Given the description of an element on the screen output the (x, y) to click on. 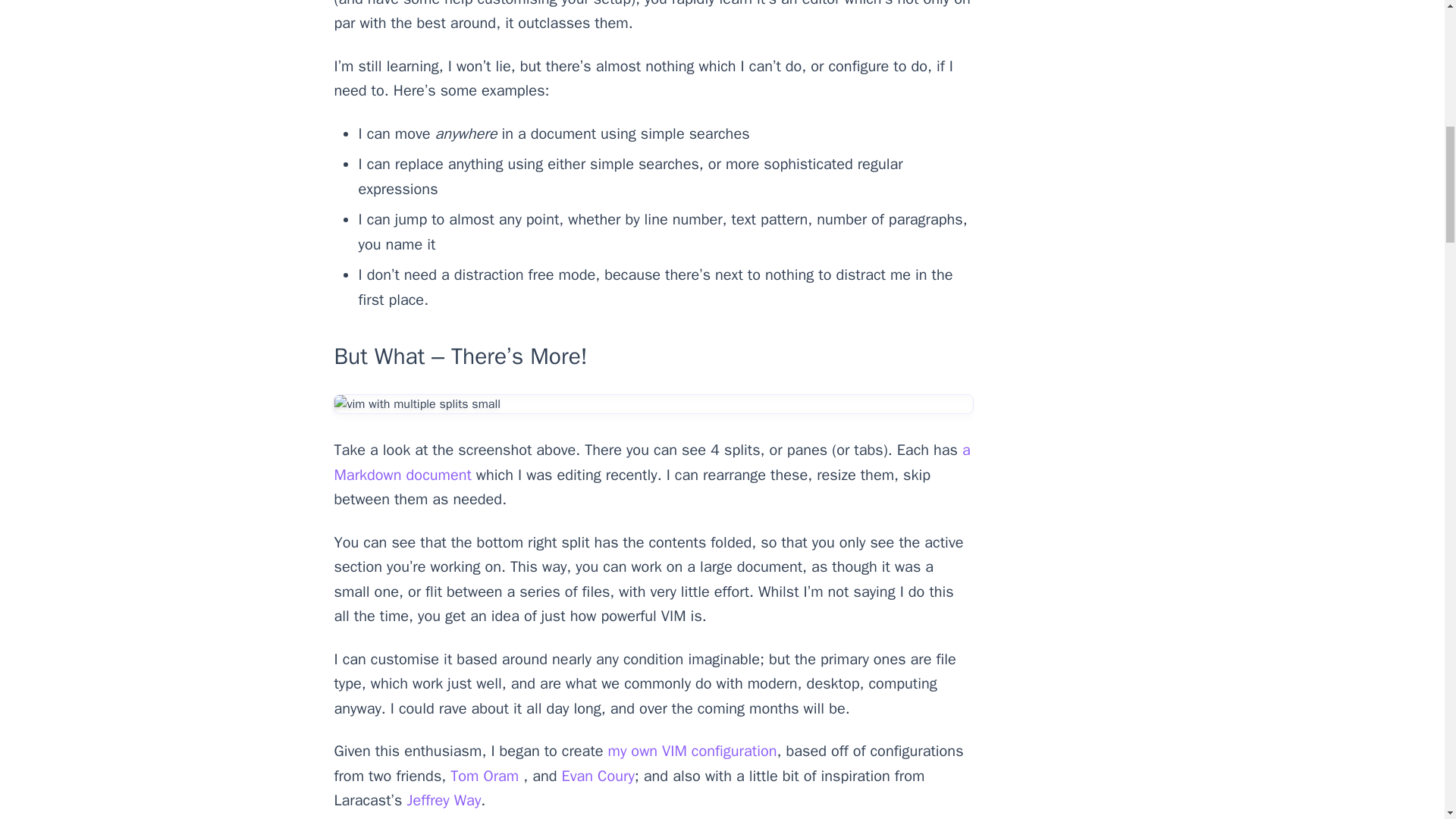
Jeffrey Way (443, 800)
my own VIM configuration (692, 751)
Tom Oram (485, 775)
Evan Coury (598, 775)
